Given the description of an element on the screen output the (x, y) to click on. 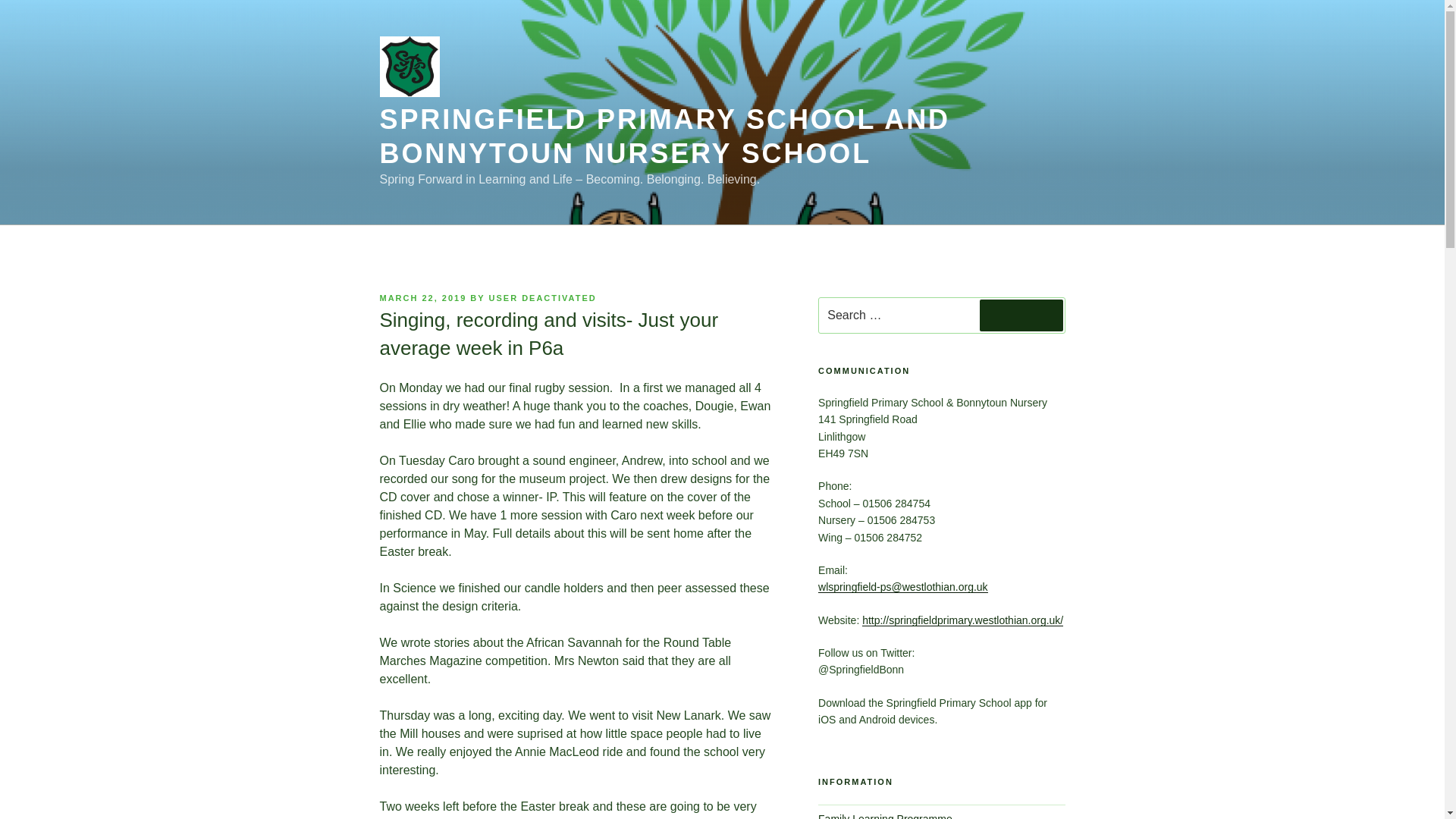
MARCH 22, 2019 (421, 297)
USER DEACTIVATED (542, 297)
Search (1020, 315)
Family Learning Programme (885, 816)
SPRINGFIELD PRIMARY SCHOOL AND BONNYTOUN NURSERY SCHOOL (663, 136)
